Given the description of an element on the screen output the (x, y) to click on. 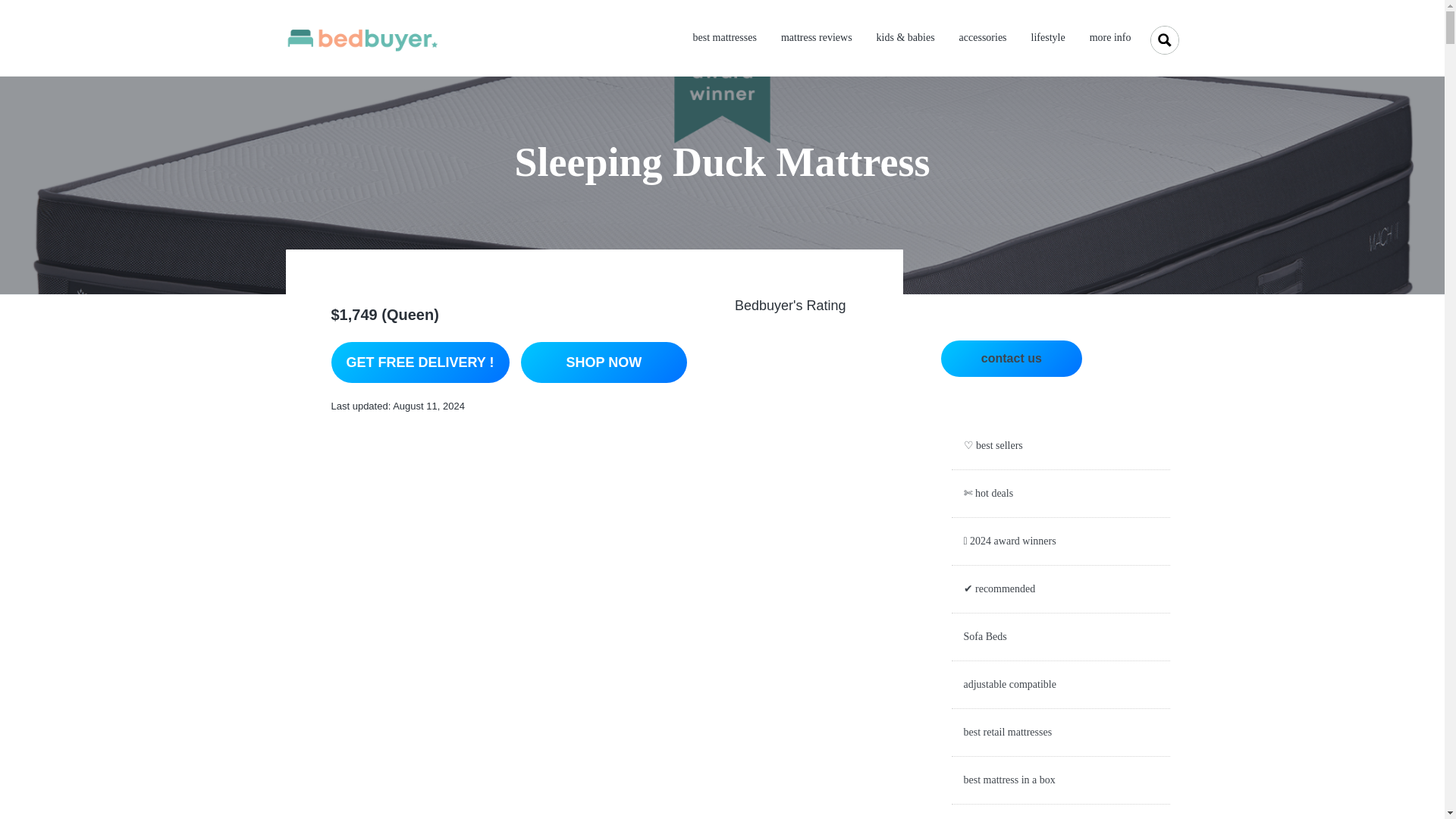
best mattresses (725, 37)
mattress reviews (815, 37)
accessories (983, 37)
